Given the description of an element on the screen output the (x, y) to click on. 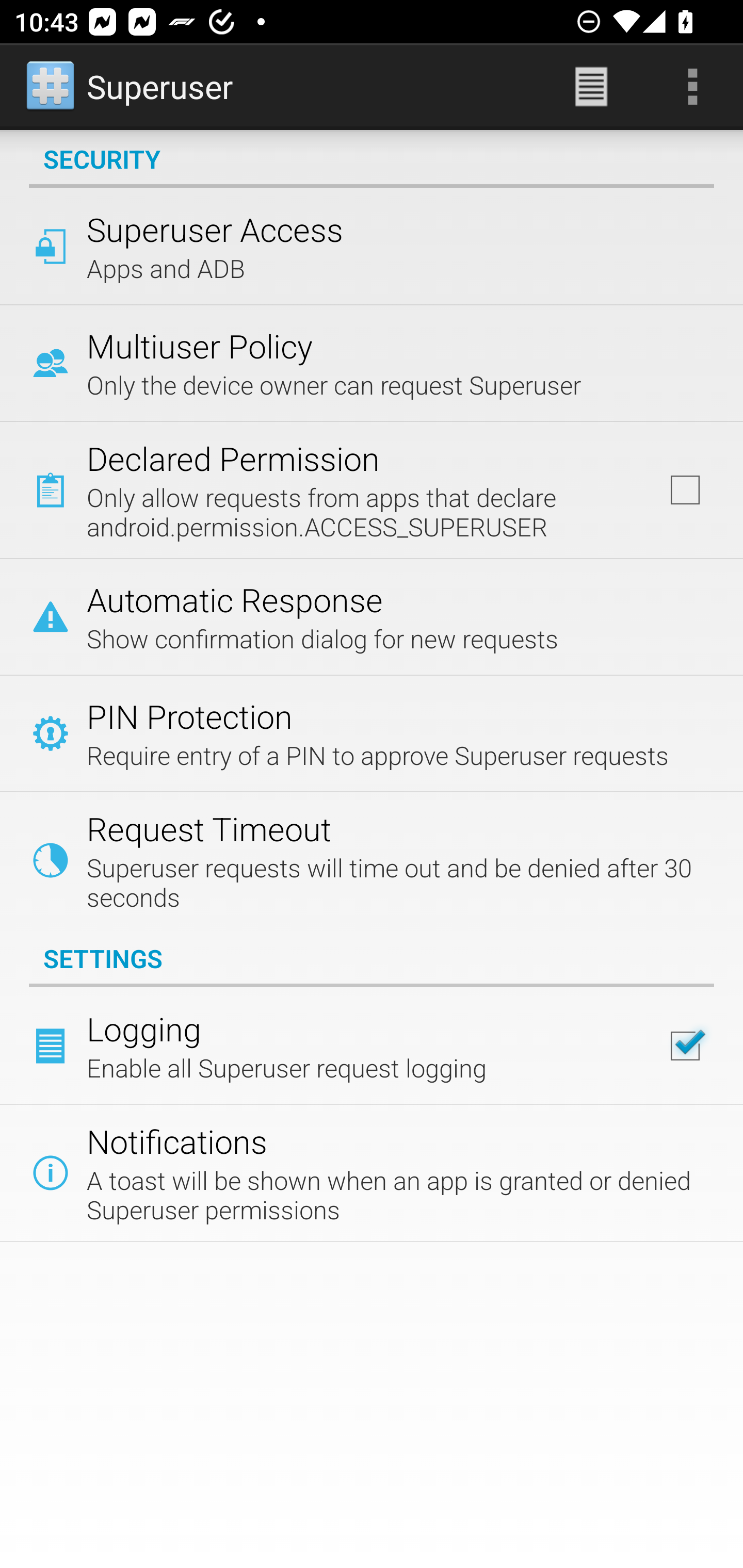
Superuser (130, 86)
Logs (590, 86)
More options (692, 86)
Superuser Access Apps and ADB (371, 246)
Logging Enable all Superuser request logging (371, 1045)
